Given the description of an element on the screen output the (x, y) to click on. 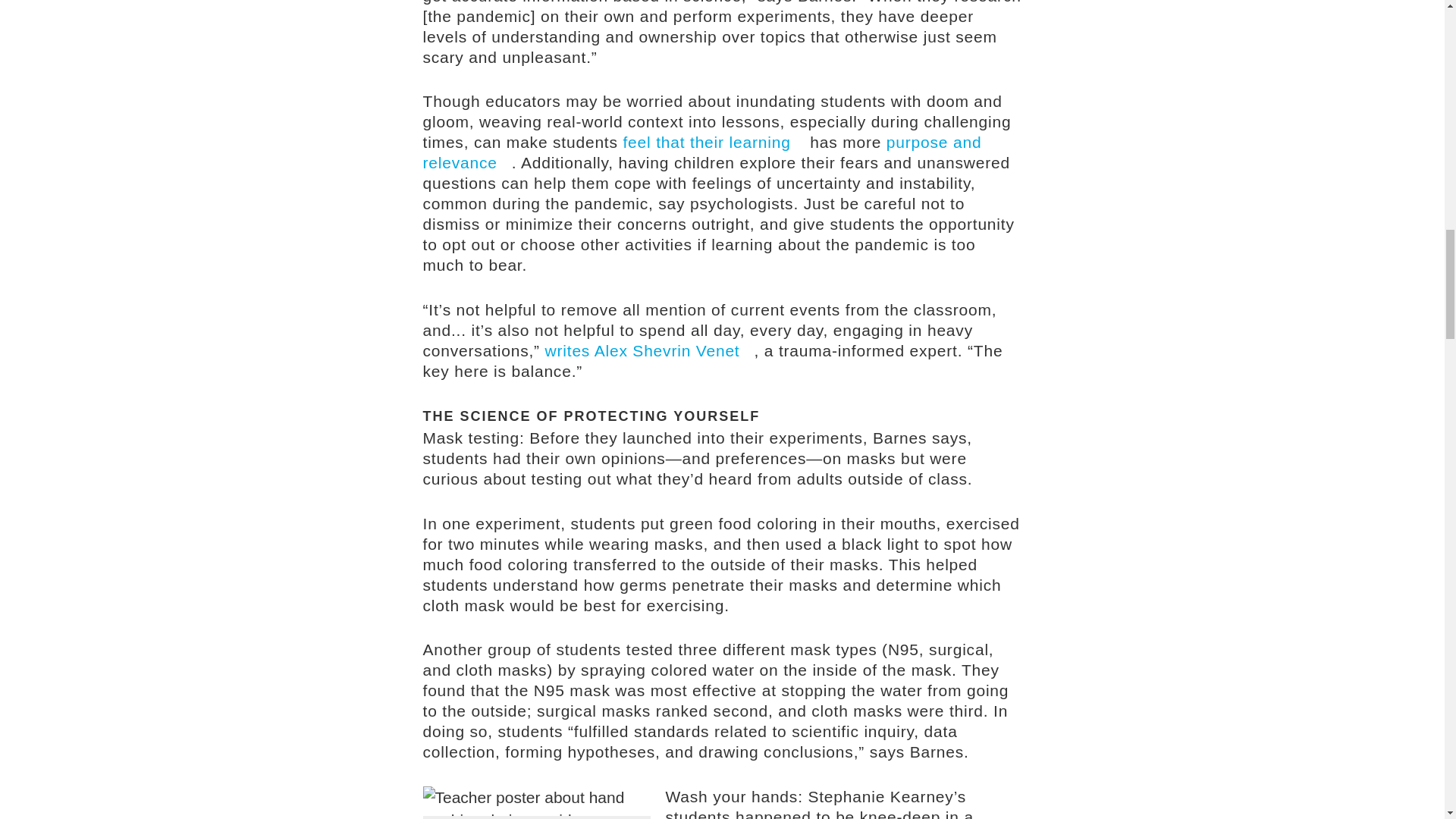
writes Alex Shevrin Venet (649, 350)
purpose and relevance (702, 152)
feel that their learning (714, 141)
